Given the description of an element on the screen output the (x, y) to click on. 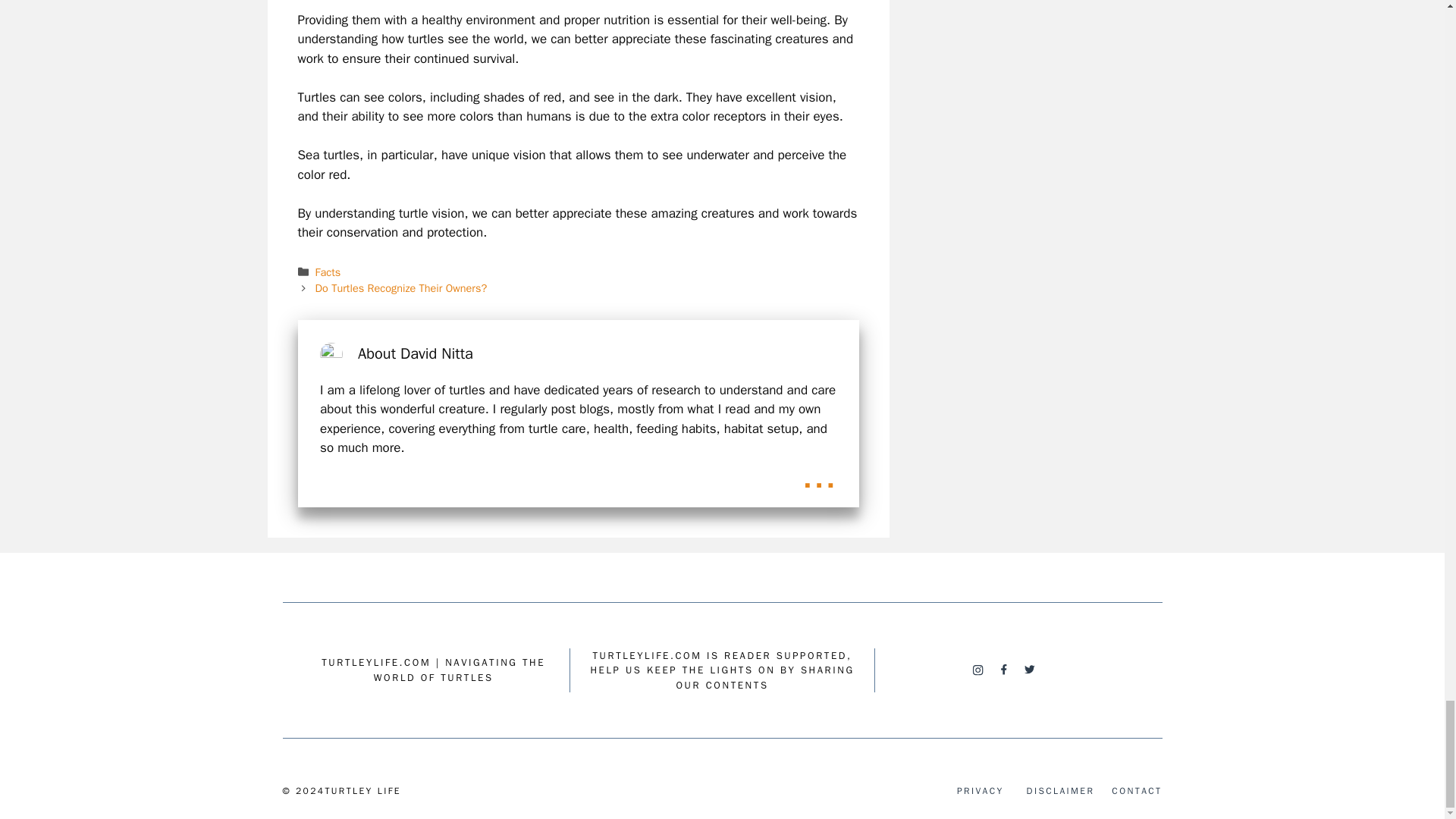
Read more (818, 475)
Facts (327, 272)
... (818, 475)
Do Turtles Recognize Their Owners? (401, 287)
